Given the description of an element on the screen output the (x, y) to click on. 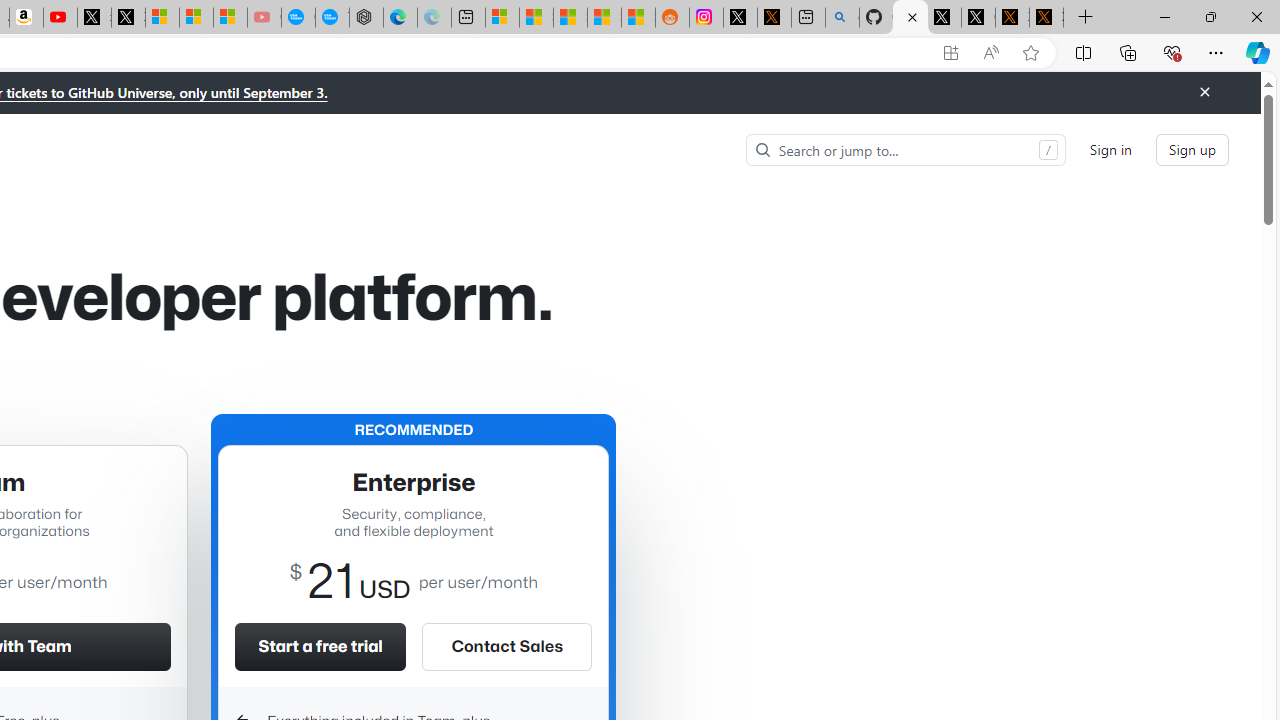
Sign up (1191, 149)
github - Search (841, 17)
The most popular Google 'how to' searches (332, 17)
help.x.com | 524: A timeout occurred (774, 17)
Start a free trial (320, 646)
App available. Install GitHub (950, 53)
Opinion: Op-Ed and Commentary - USA TODAY (297, 17)
